Given the description of an element on the screen output the (x, y) to click on. 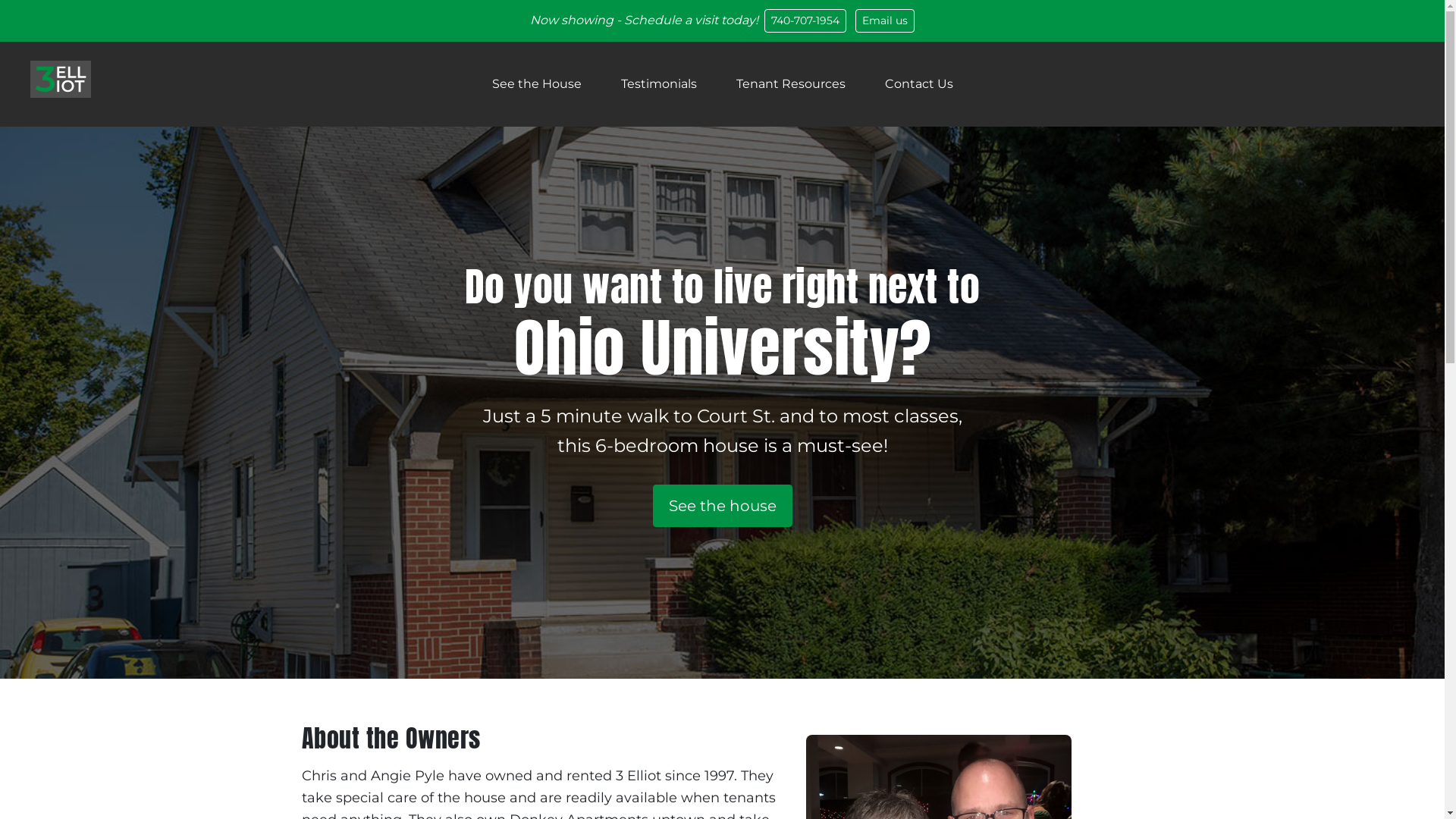
Testimonials Element type: text (658, 83)
Tenant Resources Element type: text (789, 83)
740-707-1954 Element type: text (805, 20)
Email us Element type: text (884, 20)
Contact Us Element type: text (918, 83)
See the house Element type: text (721, 505)
See the House Element type: text (536, 83)
